Given the description of an element on the screen output the (x, y) to click on. 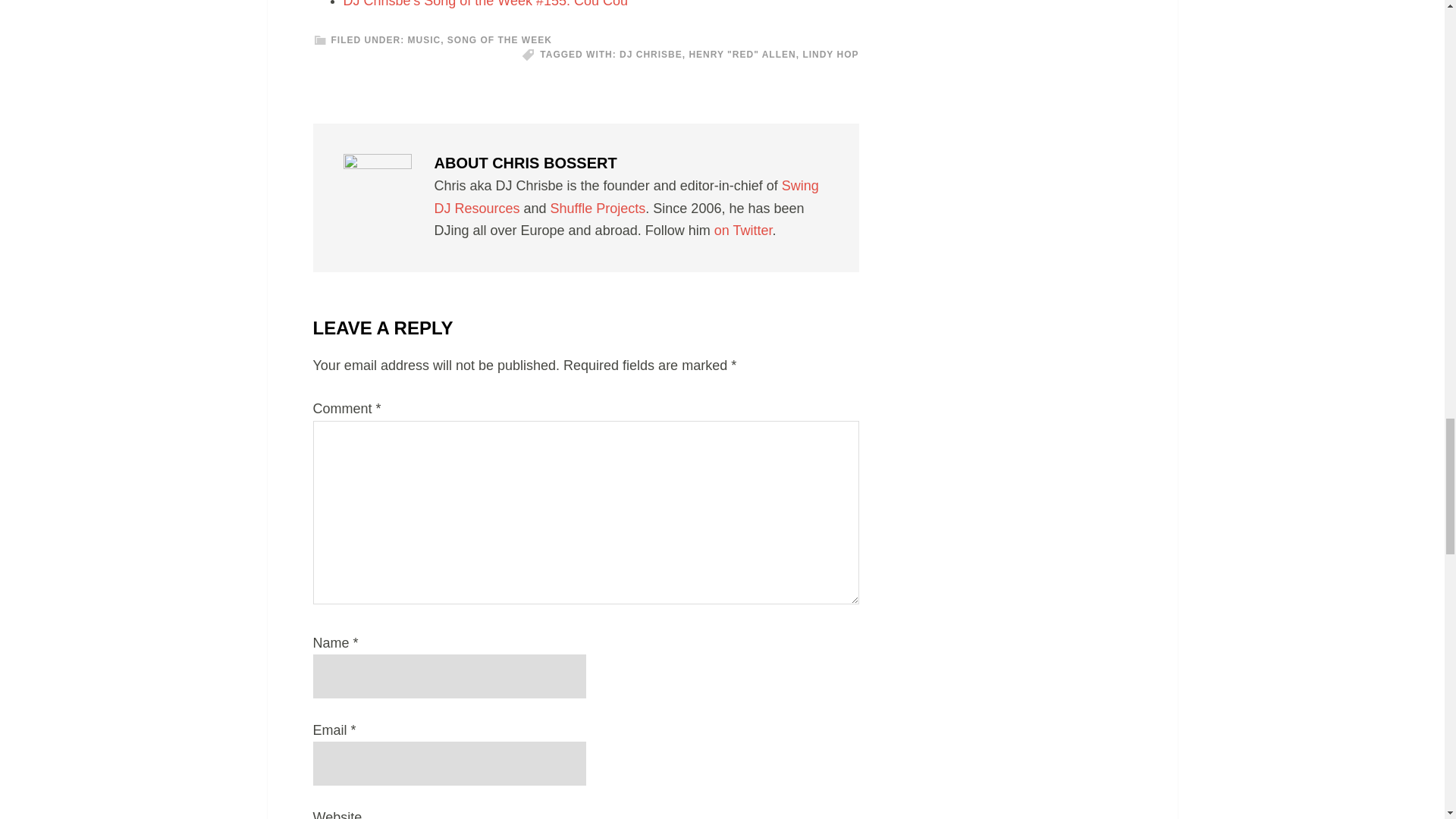
HENRY "RED" ALLEN (741, 54)
SONG OF THE WEEK (498, 40)
DJ CHRISBE (651, 54)
Swing DJ Resources (625, 196)
LINDY HOP (830, 54)
MUSIC (424, 40)
